Given the description of an element on the screen output the (x, y) to click on. 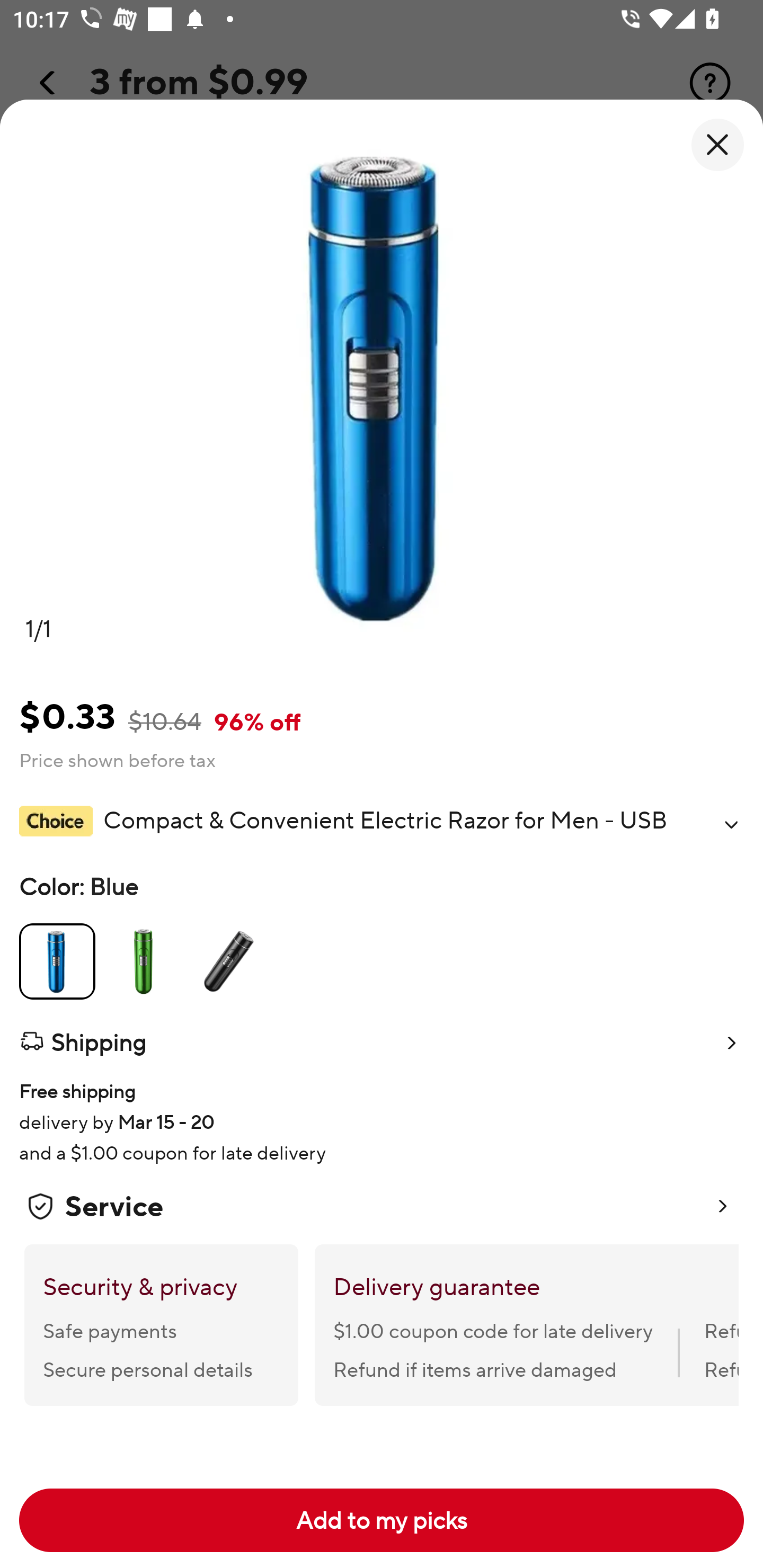
close  (717, 144)
 (730, 824)
Add to my picks (381, 1520)
